Given the description of an element on the screen output the (x, y) to click on. 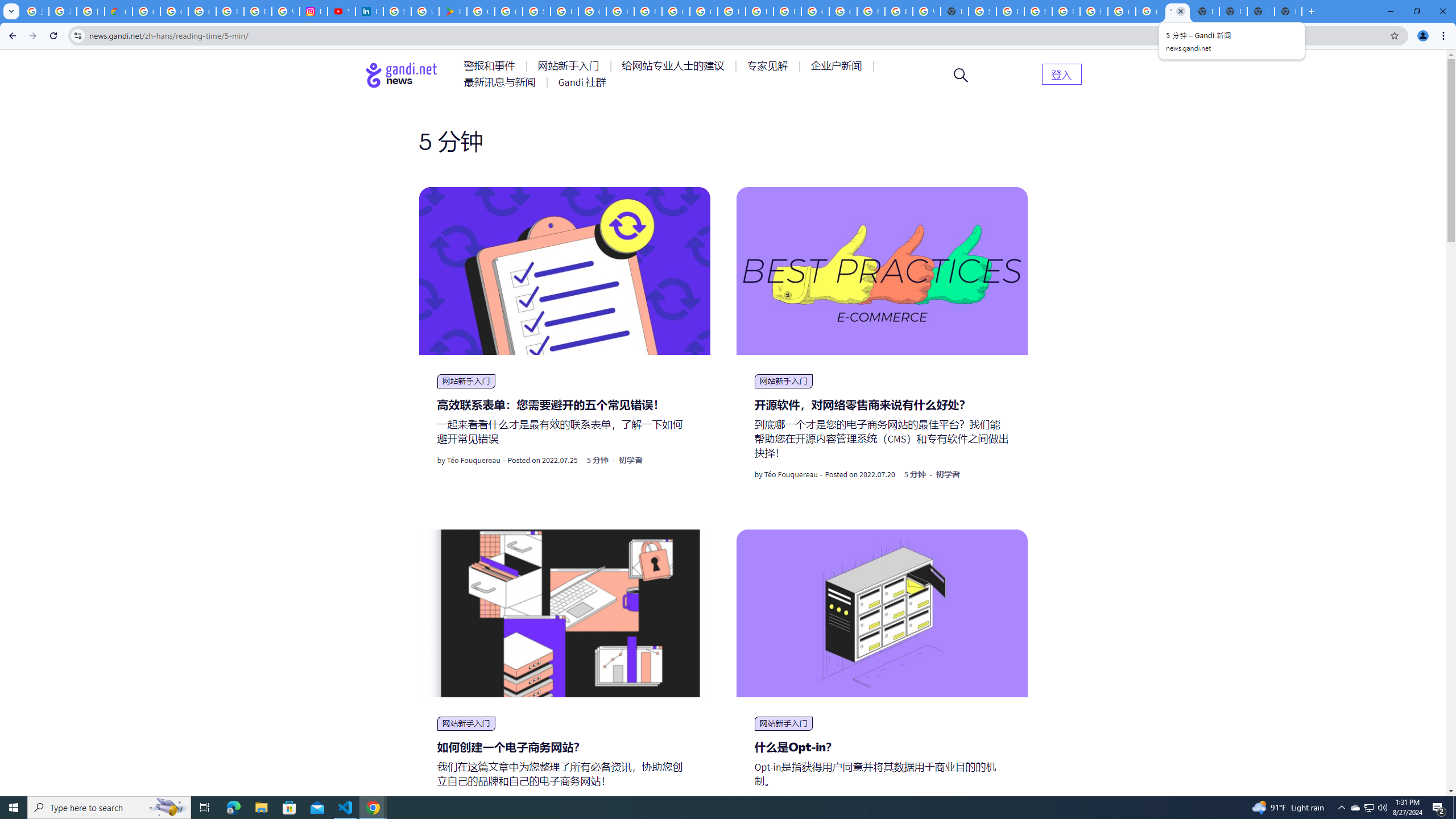
AutomationID: menu-item-77762 (570, 65)
Browse Chrome as a guest - Computer - Google Chrome Help (870, 11)
Privacy Help Center - Policies Help (257, 11)
YouTube Culture & Trends - On The Rise: Handcam Videos (341, 11)
Google Cloud Platform (815, 11)
Last Shelter: Survival - Apps on Google Play (452, 11)
AutomationID: menu-item-82399 (1061, 73)
